Given the description of an element on the screen output the (x, y) to click on. 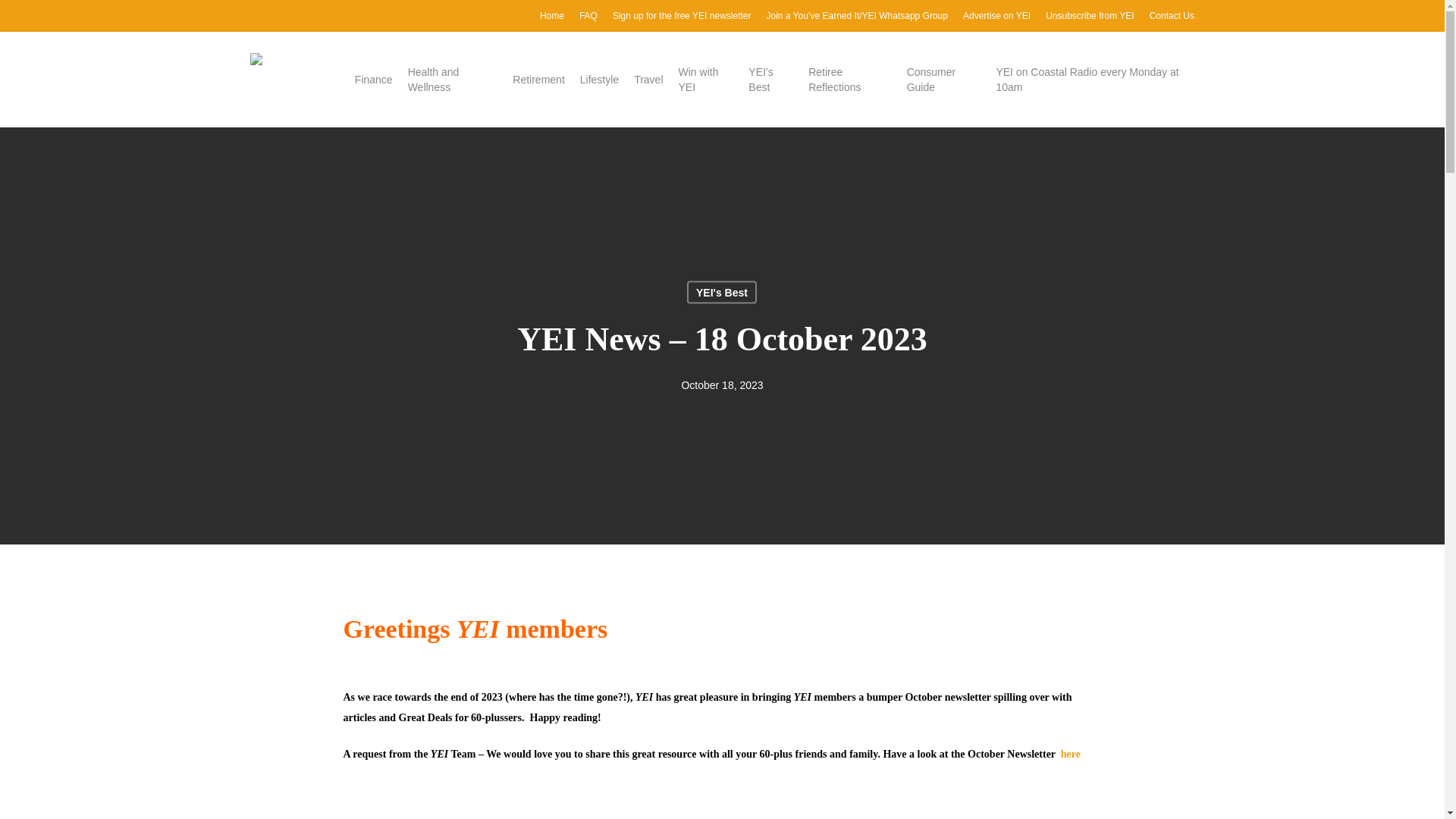
Retiree Reflections (849, 79)
Sign up for the free YEI newsletter (681, 15)
Win with YEI (705, 79)
YEI's Best (722, 291)
Home (552, 15)
Consumer Guide (944, 79)
Finance (374, 79)
Lifestyle (598, 79)
Contact Us (1171, 15)
Advertise on YEI (996, 15)
